Given the description of an element on the screen output the (x, y) to click on. 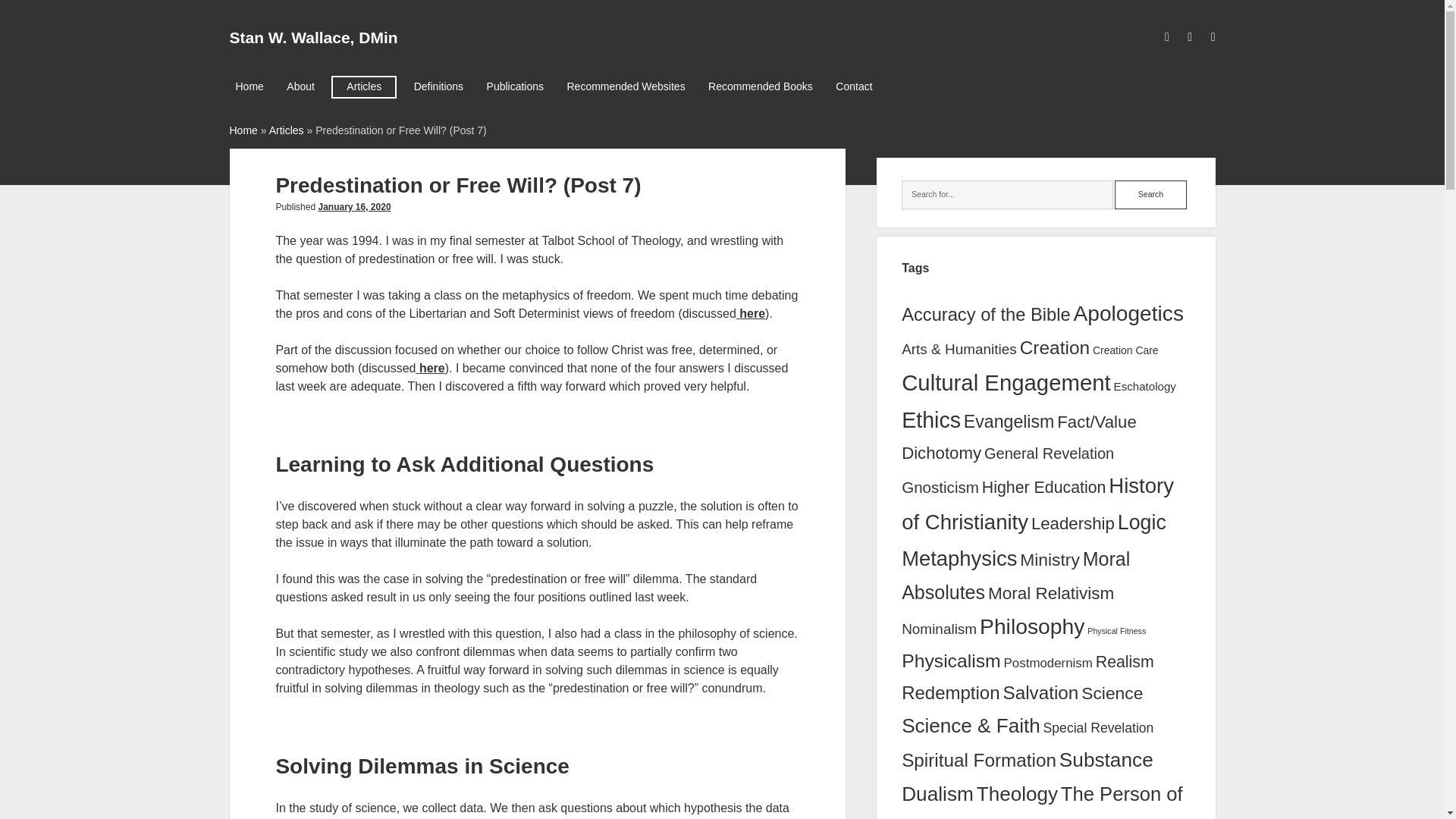
Contact (853, 86)
Search (1150, 194)
Articles (286, 130)
Search for: (1007, 194)
Accuracy of the Bible (985, 314)
Definitions (437, 86)
Cultural Engagement (1005, 382)
Recommended Books (759, 86)
here (752, 313)
Stan W. Wallace, DMin (312, 36)
